Given the description of an element on the screen output the (x, y) to click on. 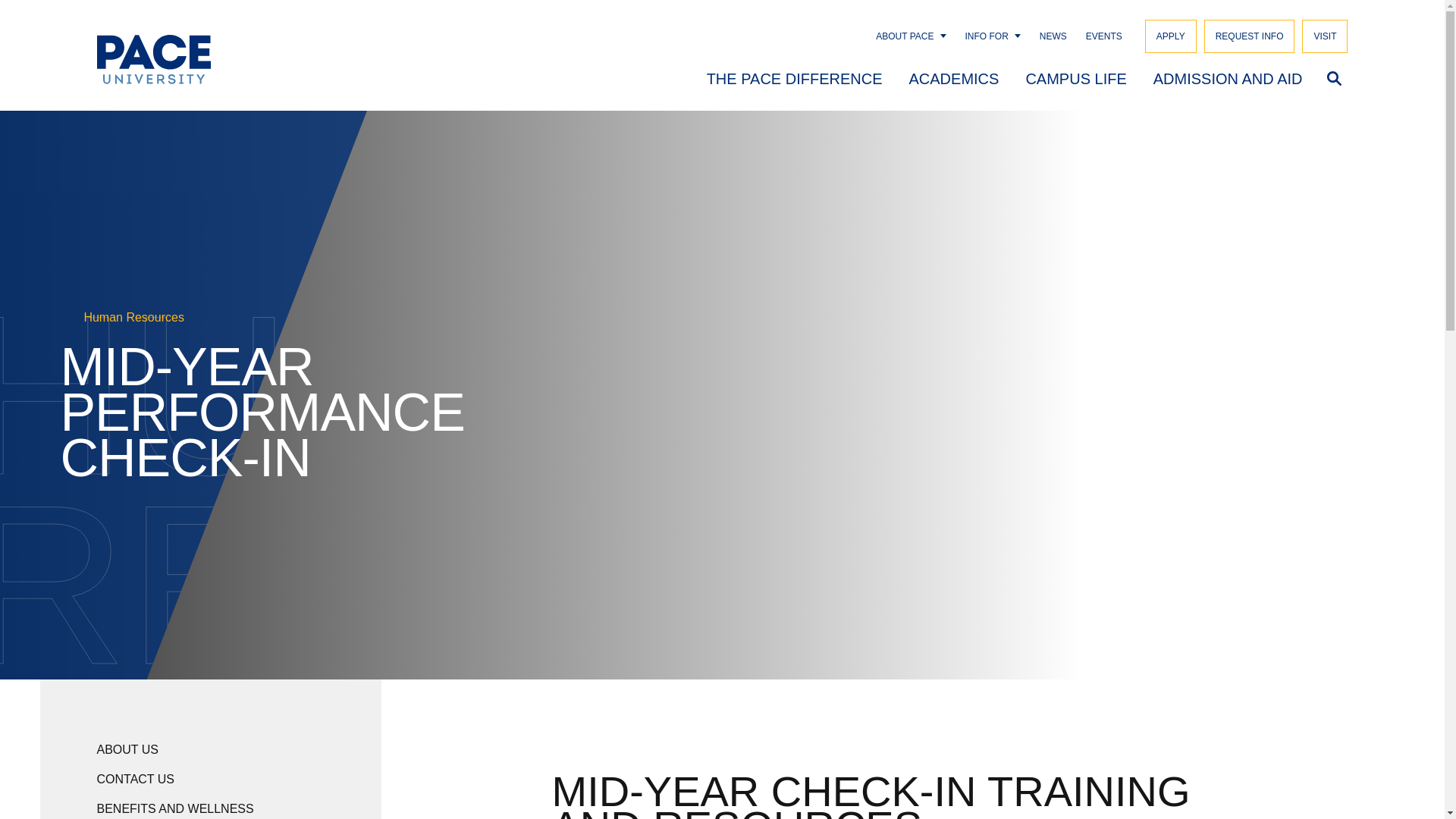
NEWS (1053, 36)
VISIT (1324, 36)
EVENTS (1104, 36)
THE PACE DIFFERENCE (794, 76)
APPLY (1170, 36)
REQUEST INFO (1249, 36)
ABOUT PACE (904, 36)
INFO FOR (987, 36)
